Given the description of an element on the screen output the (x, y) to click on. 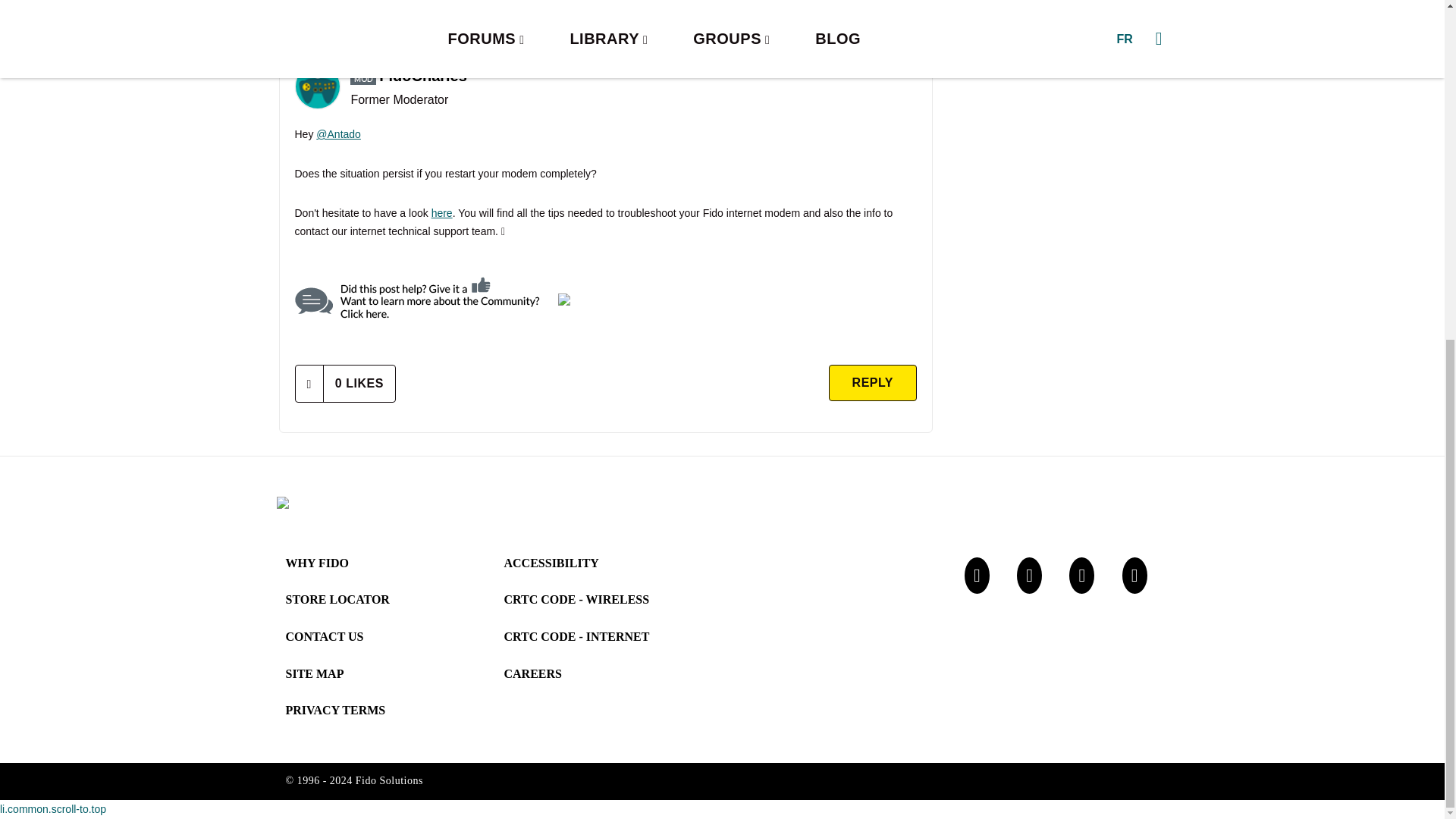
li.common.scroll-to.top (53, 808)
